Given the description of an element on the screen output the (x, y) to click on. 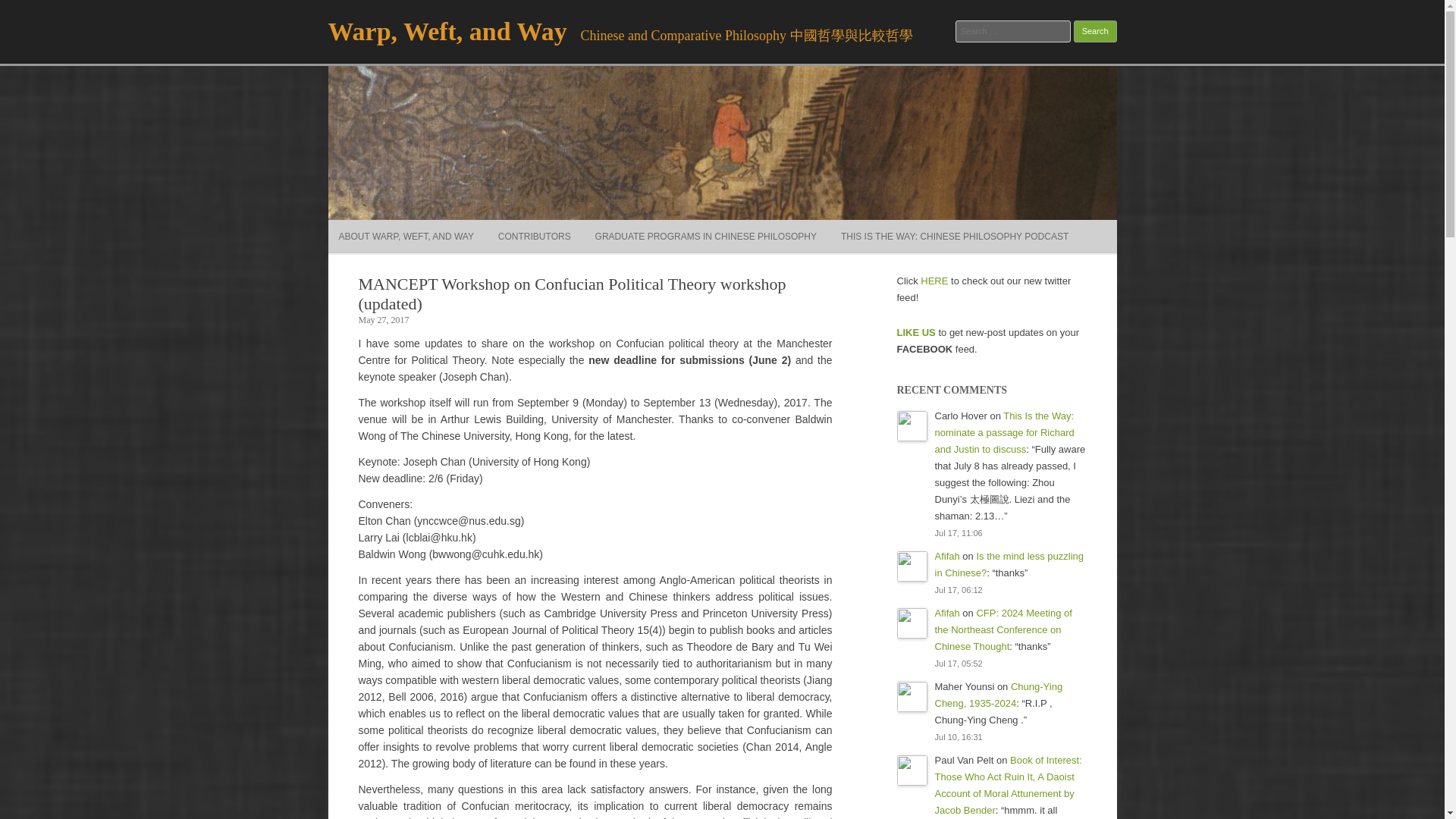
Warp, Weft, and Way (446, 31)
CONTRIBUTORS (533, 236)
Is the mind less puzzling in Chinese? (1008, 564)
Warp, Weft, and Way (446, 31)
9:30 am (383, 319)
Afifah (946, 555)
Afifah (946, 613)
May 27, 2017 (383, 319)
LIKE US (915, 332)
Search (1095, 31)
Chung-Ying Cheng, 1935-2024 (998, 694)
ABOUT WARP, WEFT, AND WAY (405, 236)
